Given the description of an element on the screen output the (x, y) to click on. 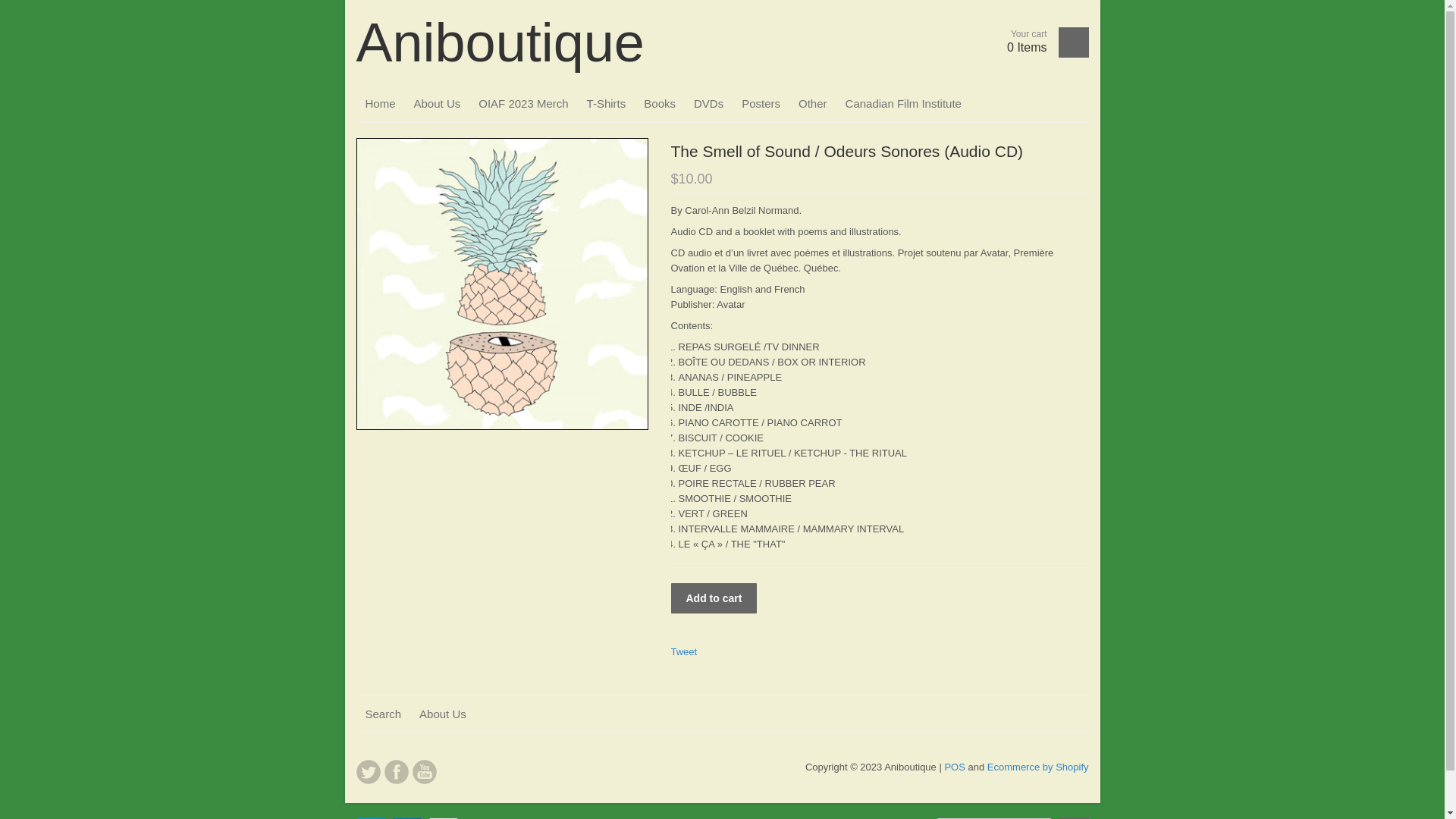
POS Element type: text (954, 766)
Add to cart Element type: text (713, 598)
Ecommerce by Shopify Element type: text (1037, 766)
Twitter Element type: text (368, 771)
YouTube Element type: text (424, 771)
Tweet Element type: text (683, 651)
Canadian Film Institute Element type: text (903, 103)
Posters Element type: text (760, 103)
DVDs Element type: text (708, 103)
Aniboutique Element type: text (500, 42)
Books Element type: text (659, 103)
Search Element type: text (383, 714)
About Us Element type: text (442, 714)
OIAF 2023 Merch Element type: text (523, 103)
View cart
Your cart
0 Items Element type: text (1041, 42)
T-Shirts Element type: text (606, 103)
About Us Element type: text (437, 103)
Other Element type: text (812, 103)
Home Element type: text (380, 103)
Facebook Element type: text (395, 771)
